Given the description of an element on the screen output the (x, y) to click on. 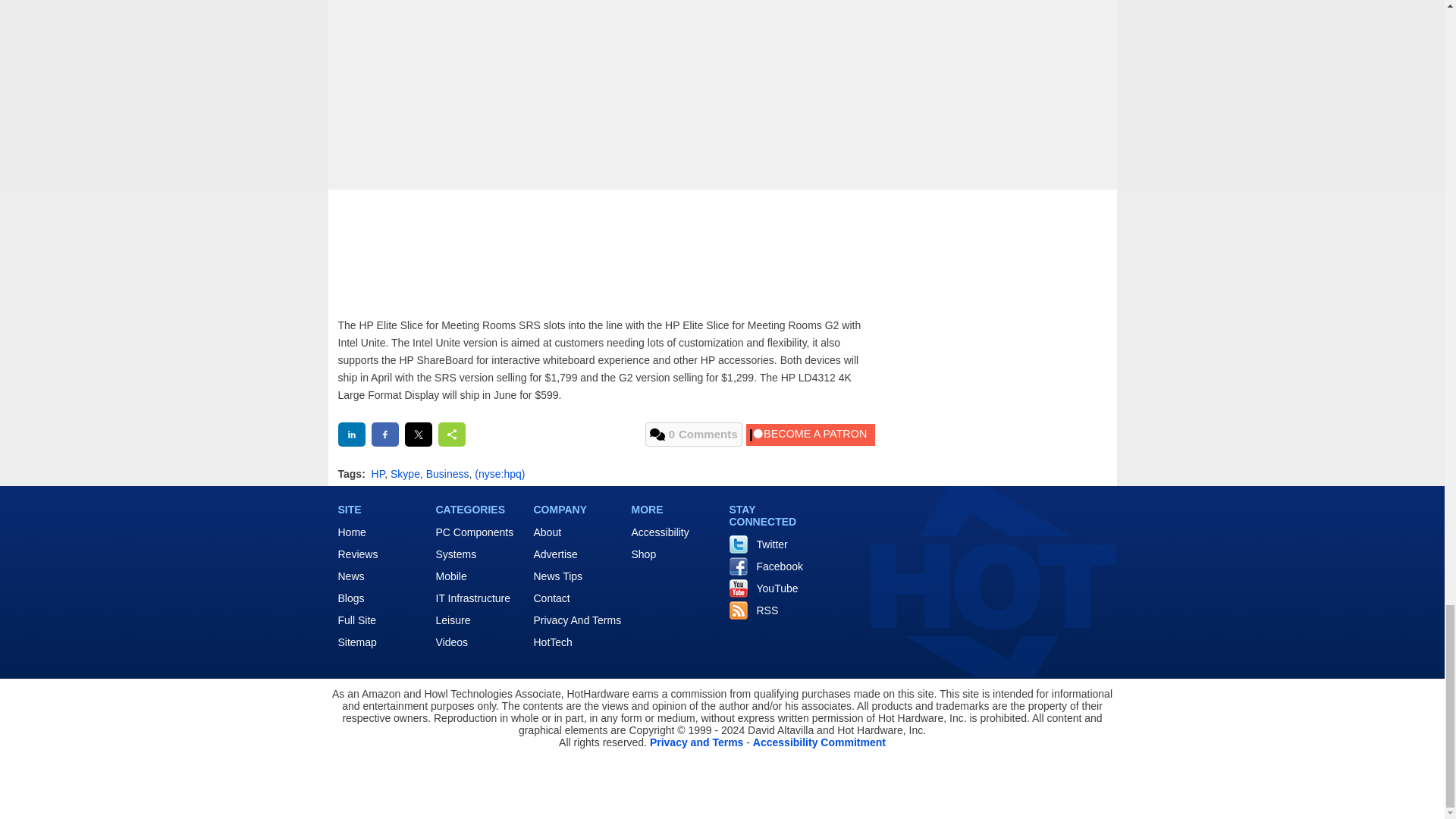
Comments (693, 433)
